Given the description of an element on the screen output the (x, y) to click on. 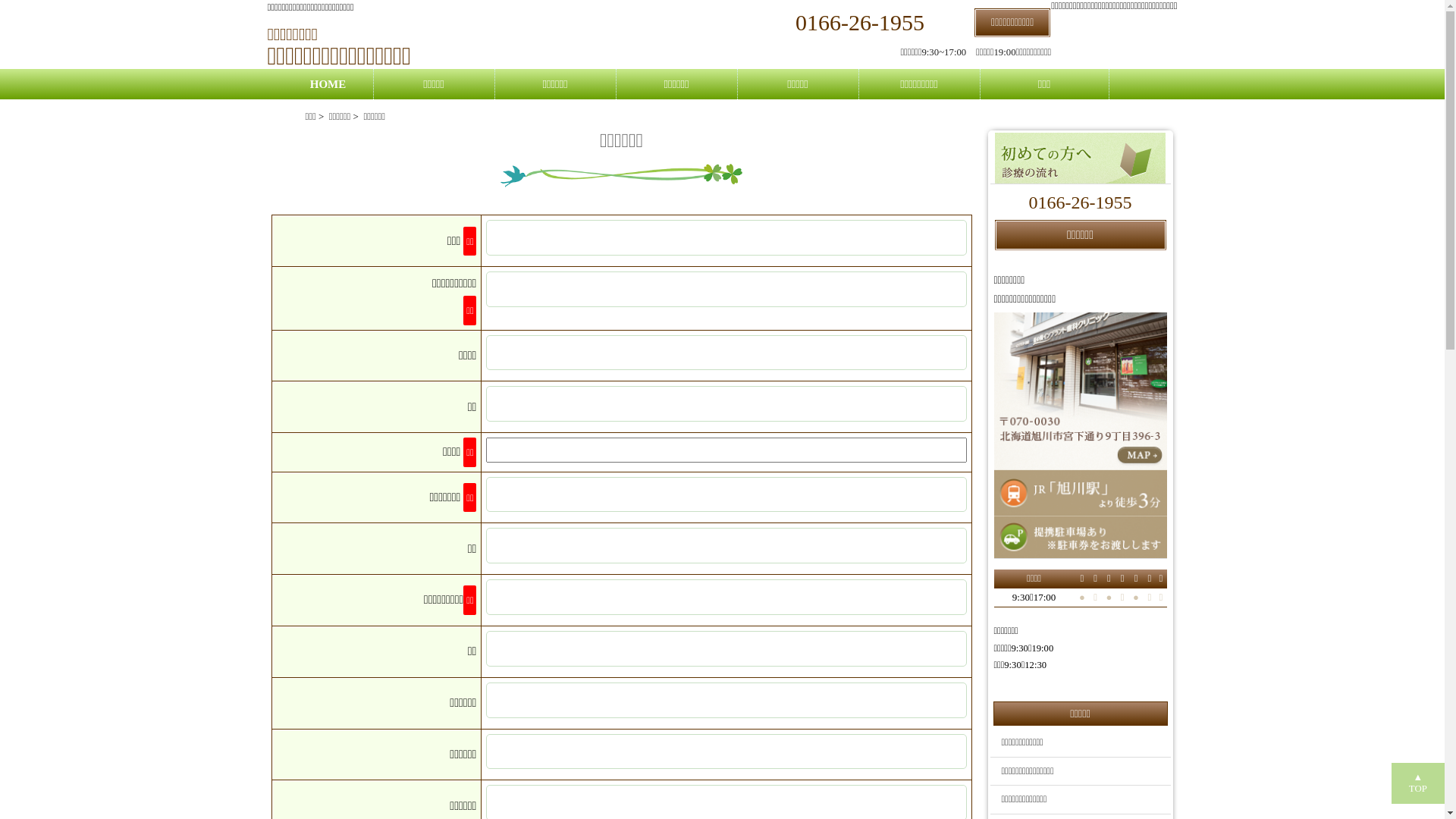
HOME Element type: text (327, 84)
